Given the description of an element on the screen output the (x, y) to click on. 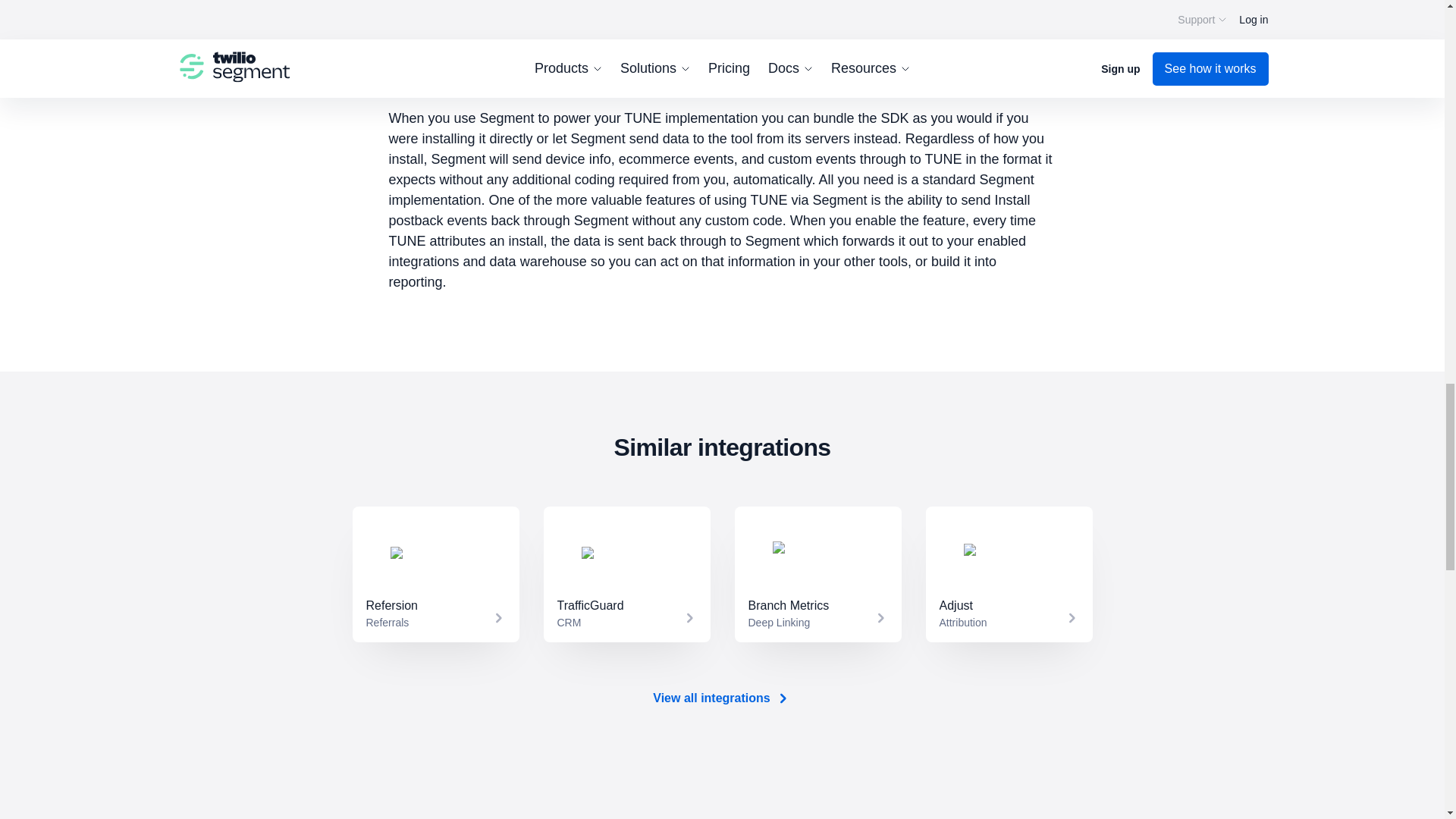
View all integrations (435, 574)
